Given the description of an element on the screen output the (x, y) to click on. 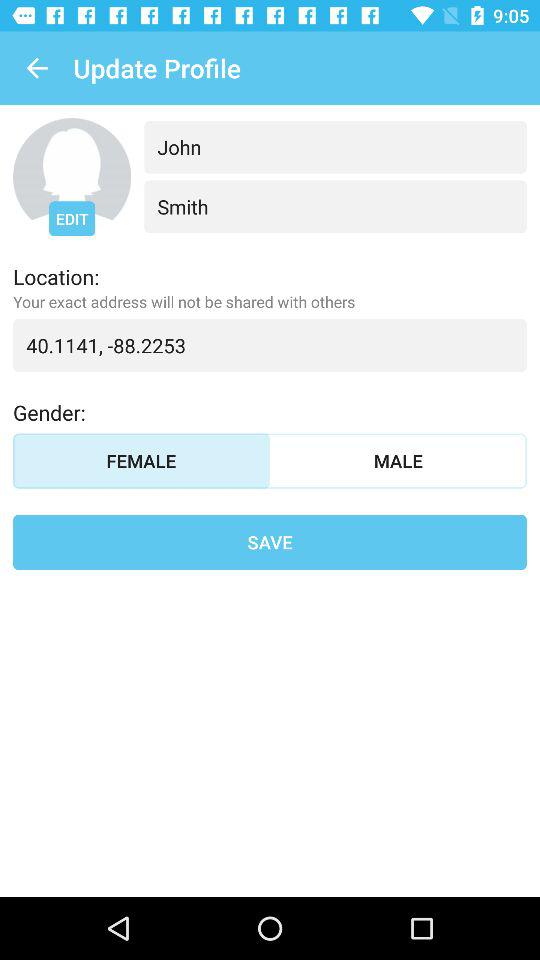
turn on the female item (141, 460)
